Given the description of an element on the screen output the (x, y) to click on. 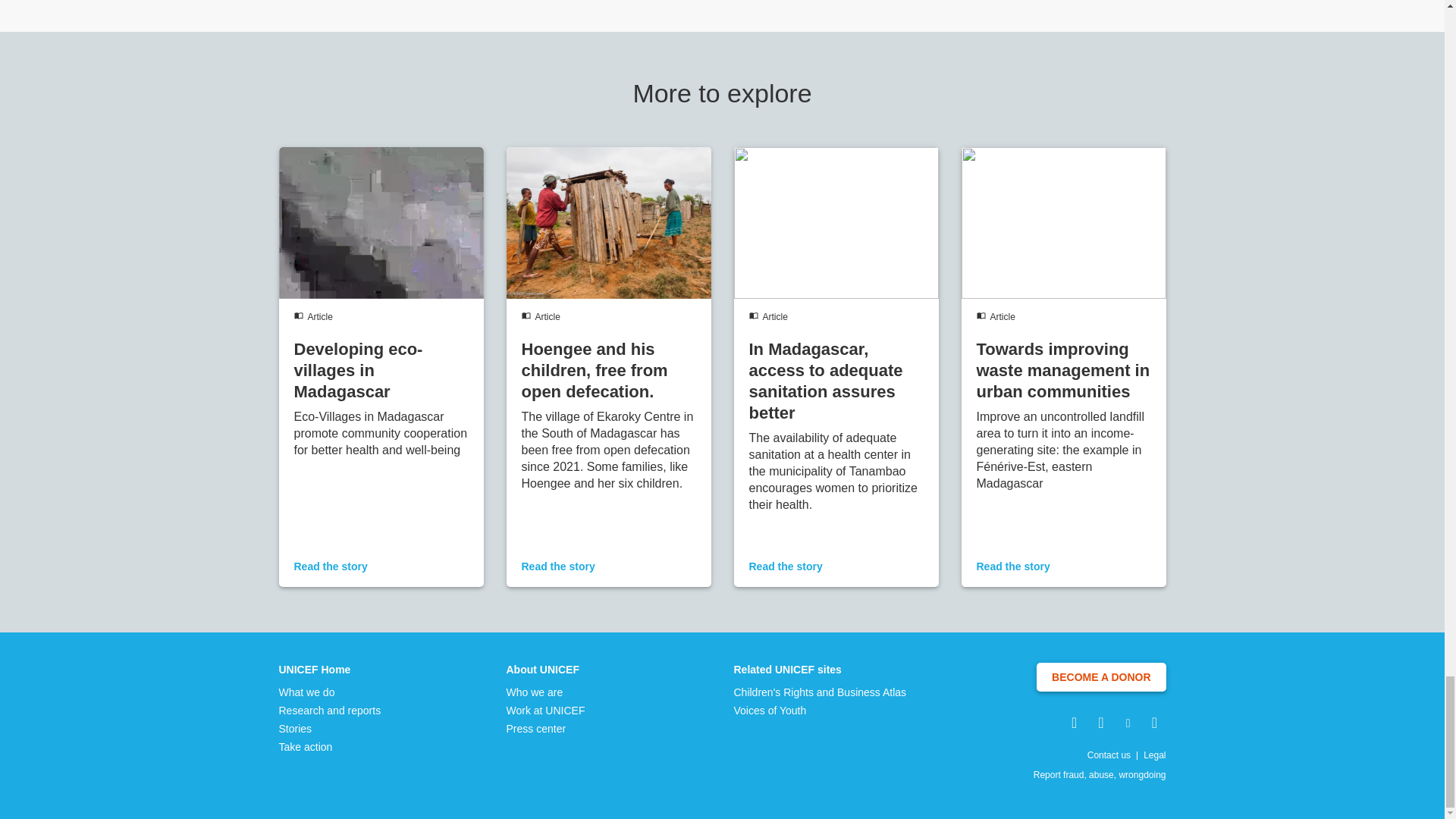
Who we are (545, 692)
UNICEF Home (330, 669)
Voices of Youth (820, 710)
What we do (330, 692)
Children's Rights and Business Atlas (820, 692)
Research and reports (330, 710)
Take action (330, 746)
Work at UNICEF (545, 710)
Who we are (545, 692)
Press center (545, 728)
Take action (330, 746)
Stories (330, 728)
Stories (330, 728)
UNICEF Home (330, 669)
Research and reports (330, 710)
